Given the description of an element on the screen output the (x, y) to click on. 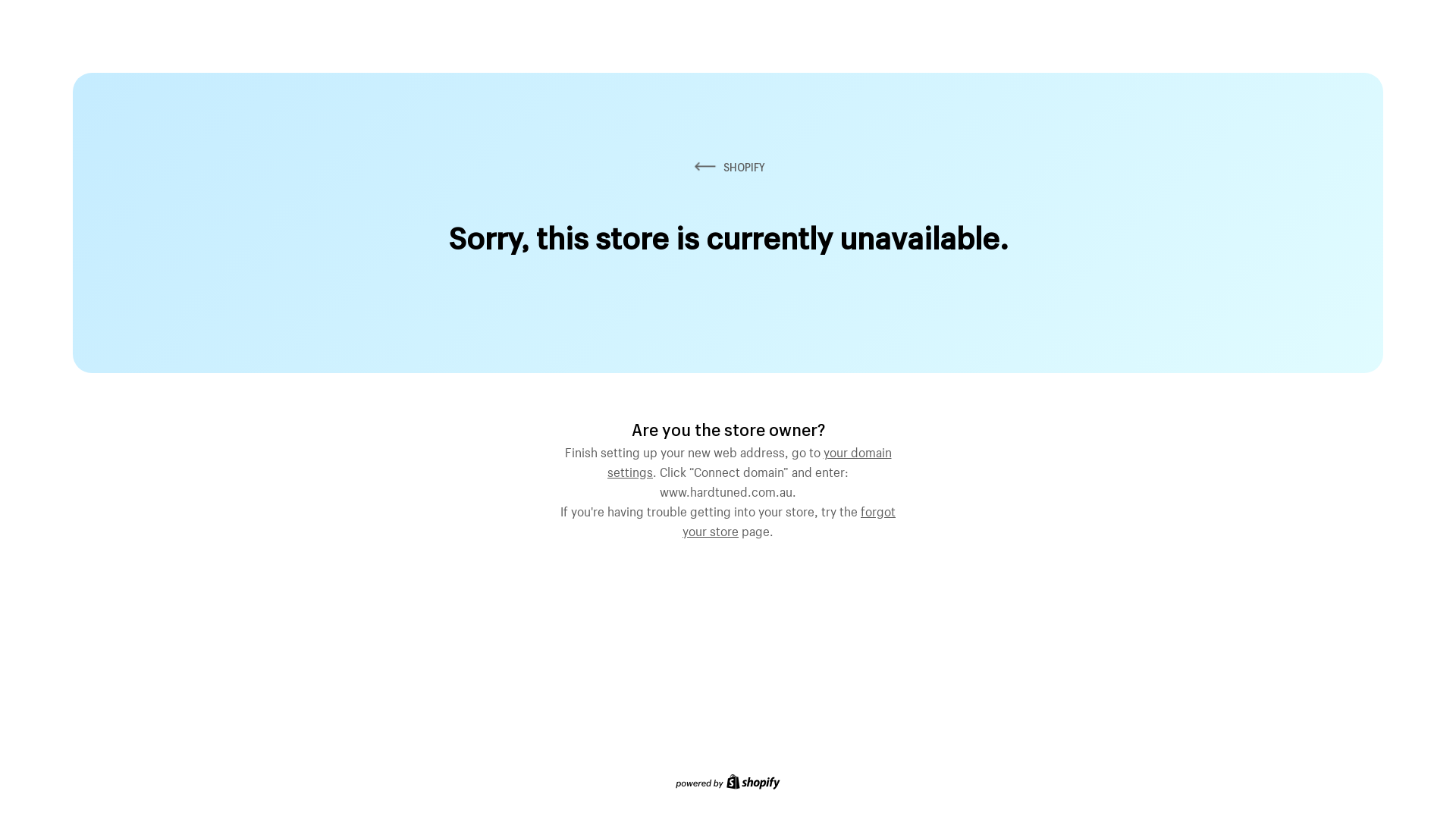
your domain settings Element type: text (749, 460)
forgot your store Element type: text (788, 519)
SHOPIFY Element type: text (727, 167)
